Given the description of an element on the screen output the (x, y) to click on. 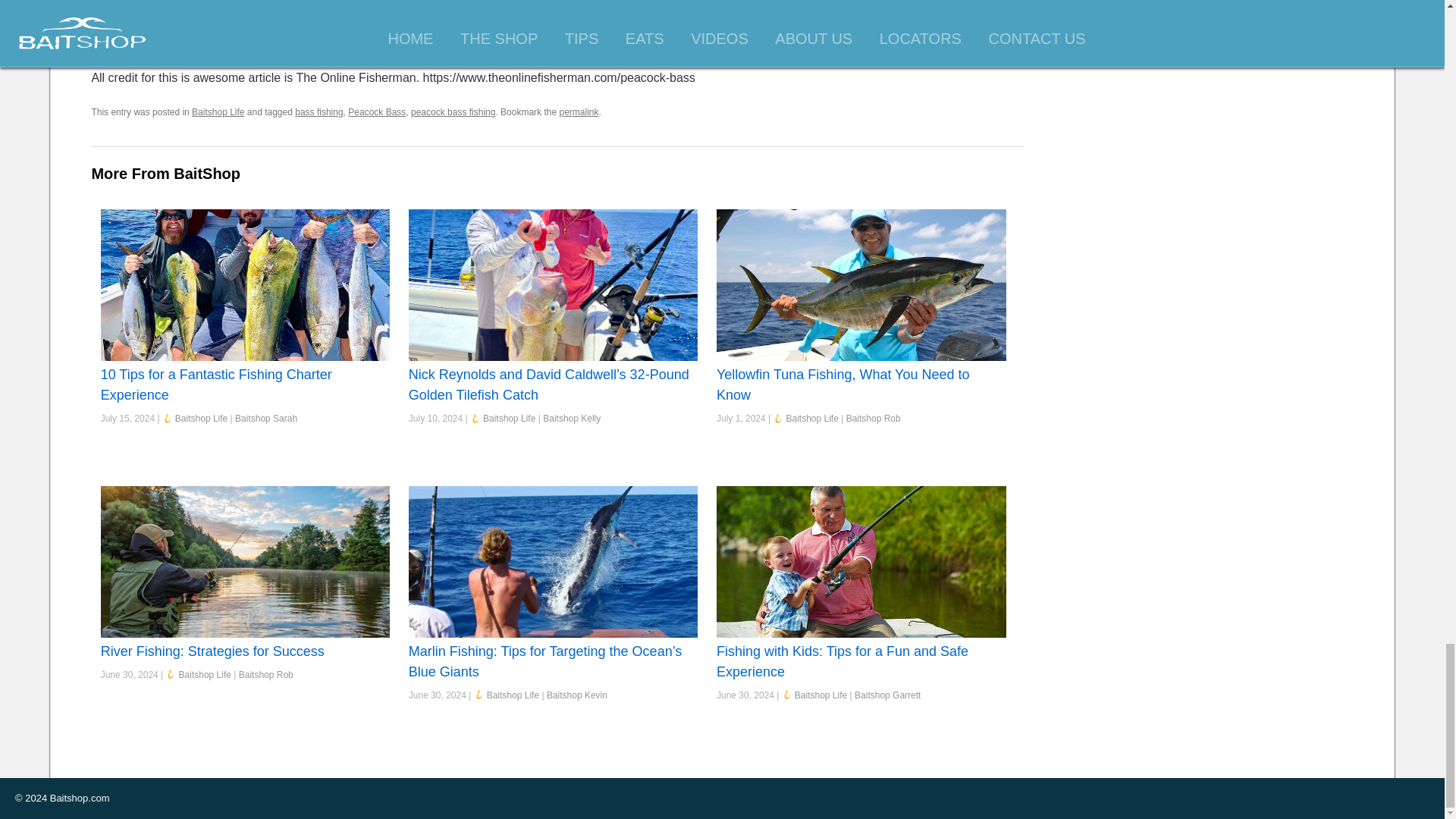
Baitshop Life (200, 418)
Permalink to Fishing Tips: Peacock Bass (578, 112)
View all posts by Baitshop Garrett (887, 695)
View all posts by Baitshop Sarah (265, 418)
View all posts by Baitshop Rob (266, 674)
peacock bass fishing (452, 112)
permalink (578, 112)
Peacock Bass (376, 112)
Baitshop Life (812, 418)
Baitshop Sarah (265, 418)
Yellowfin Tuna Fishing, What You Need to Know (842, 384)
10 Tips for a Fantastic Fishing Charter Experience (215, 384)
bass fishing (318, 112)
Baitshop Kelly (571, 418)
View all posts by Baitshop Kevin (577, 695)
